Given the description of an element on the screen output the (x, y) to click on. 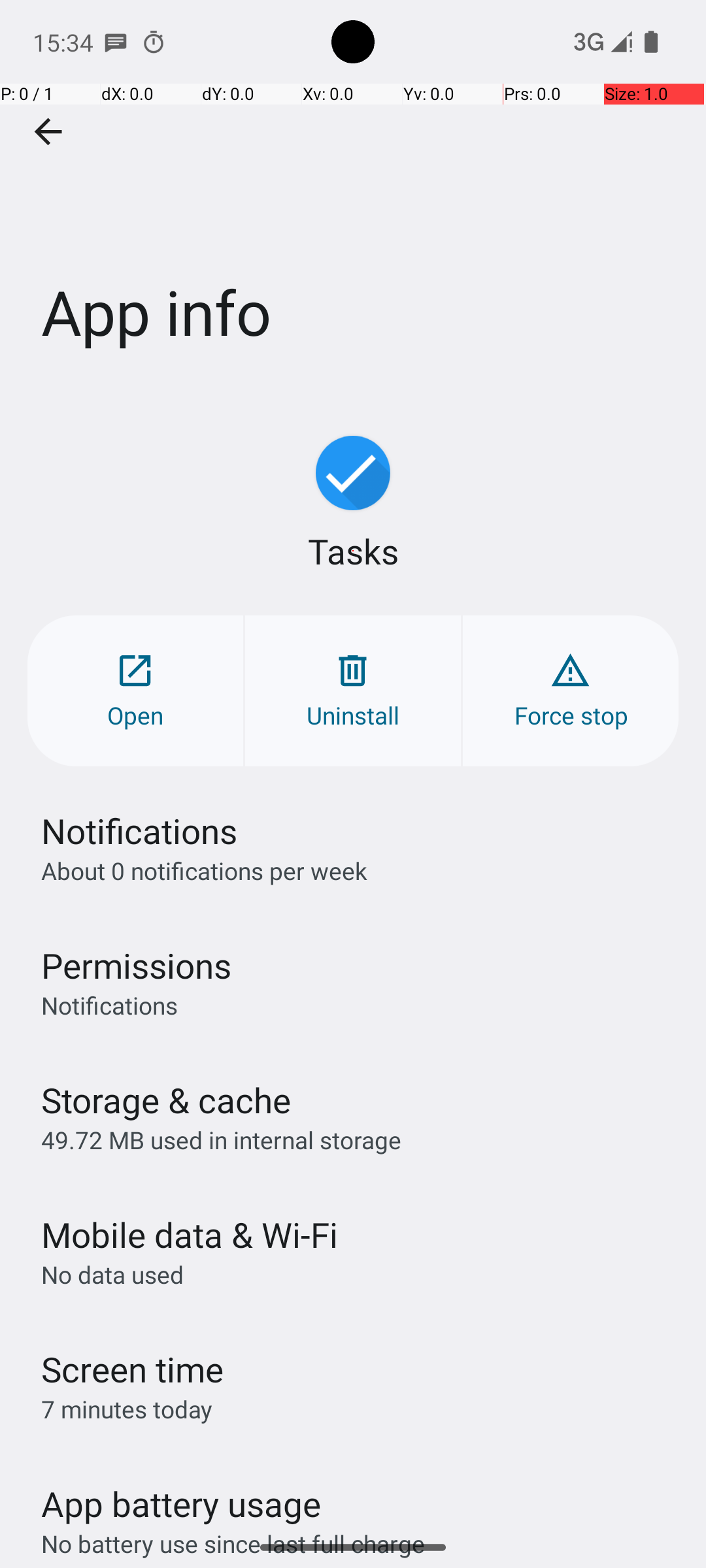
49.72 MB used in internal storage Element type: android.widget.TextView (221, 1139)
7 minutes today Element type: android.widget.TextView (127, 1408)
